Given the description of an element on the screen output the (x, y) to click on. 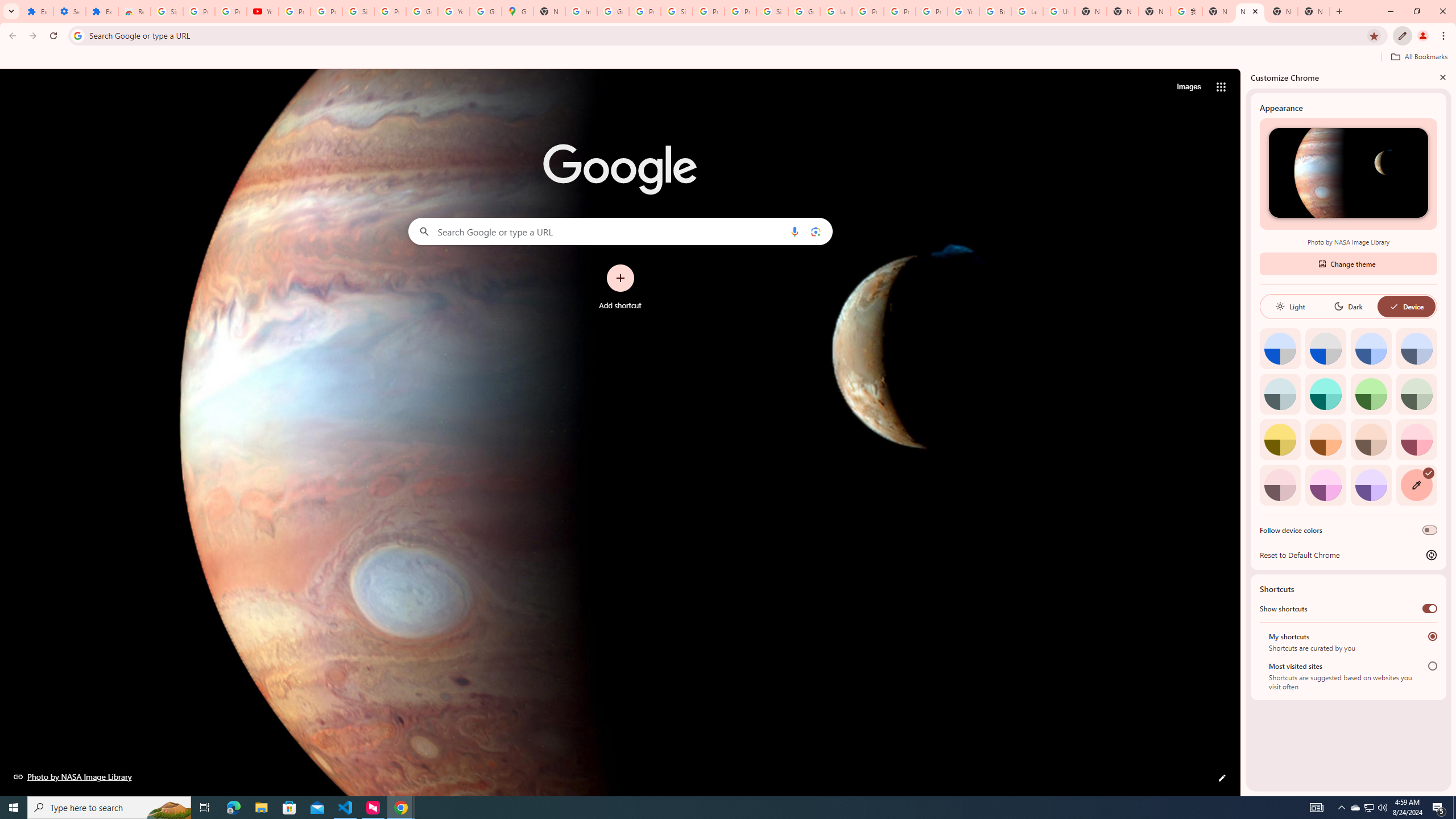
Reviews: Helix Fruit Jump Arcade Game (134, 11)
Rose (1416, 439)
Add shortcut (620, 287)
Viridian (1416, 393)
Customize Chrome (1402, 35)
Fuchsia (1325, 484)
Customize this page (1221, 778)
Violet (1371, 484)
Custom color (1416, 484)
Pink (1279, 484)
